Given the description of an element on the screen output the (x, y) to click on. 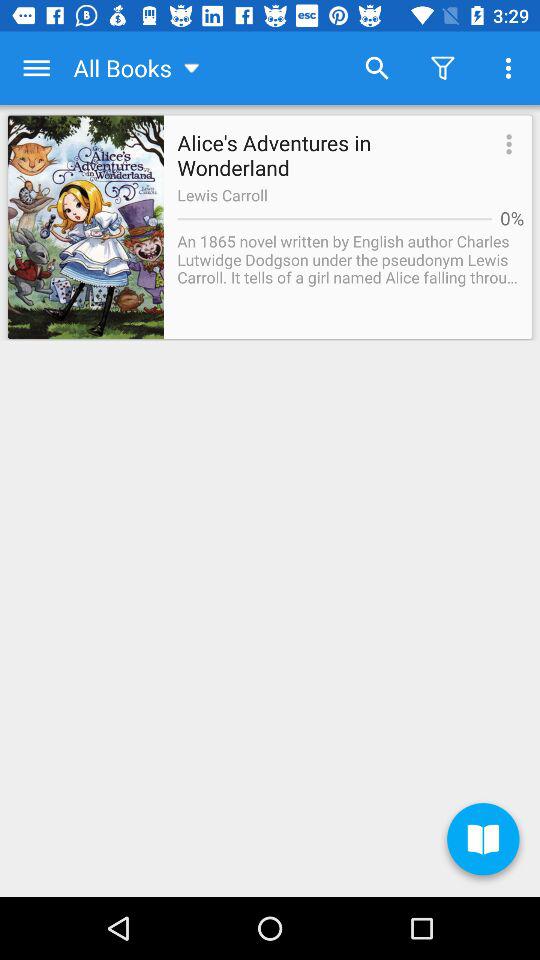
turn off icon above lewis carroll item (505, 146)
